Given the description of an element on the screen output the (x, y) to click on. 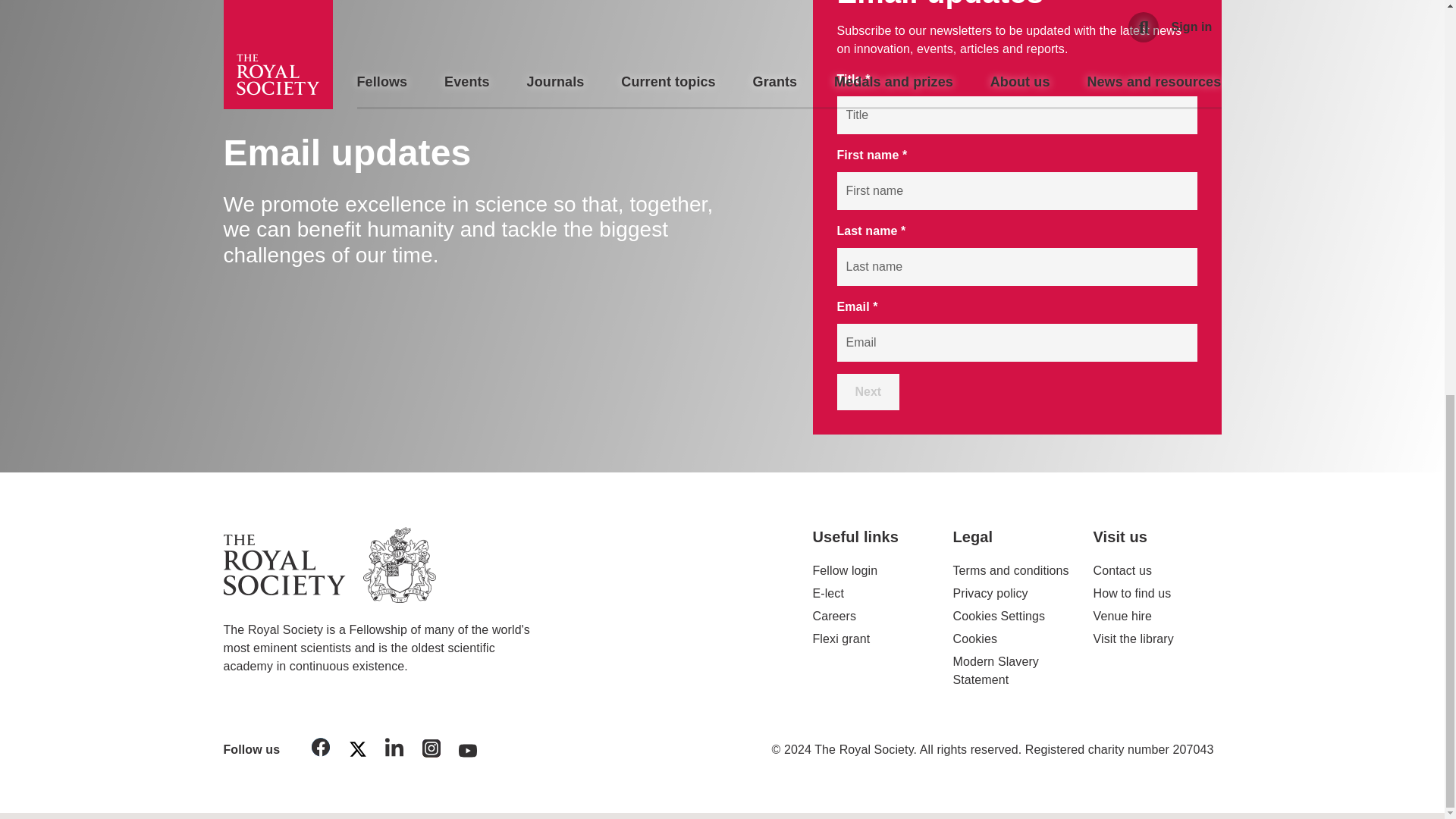
LinkedIn (393, 750)
Instagram (431, 751)
YouTube (467, 753)
Twitter (357, 752)
Facebook (320, 750)
